Given the description of an element on the screen output the (x, y) to click on. 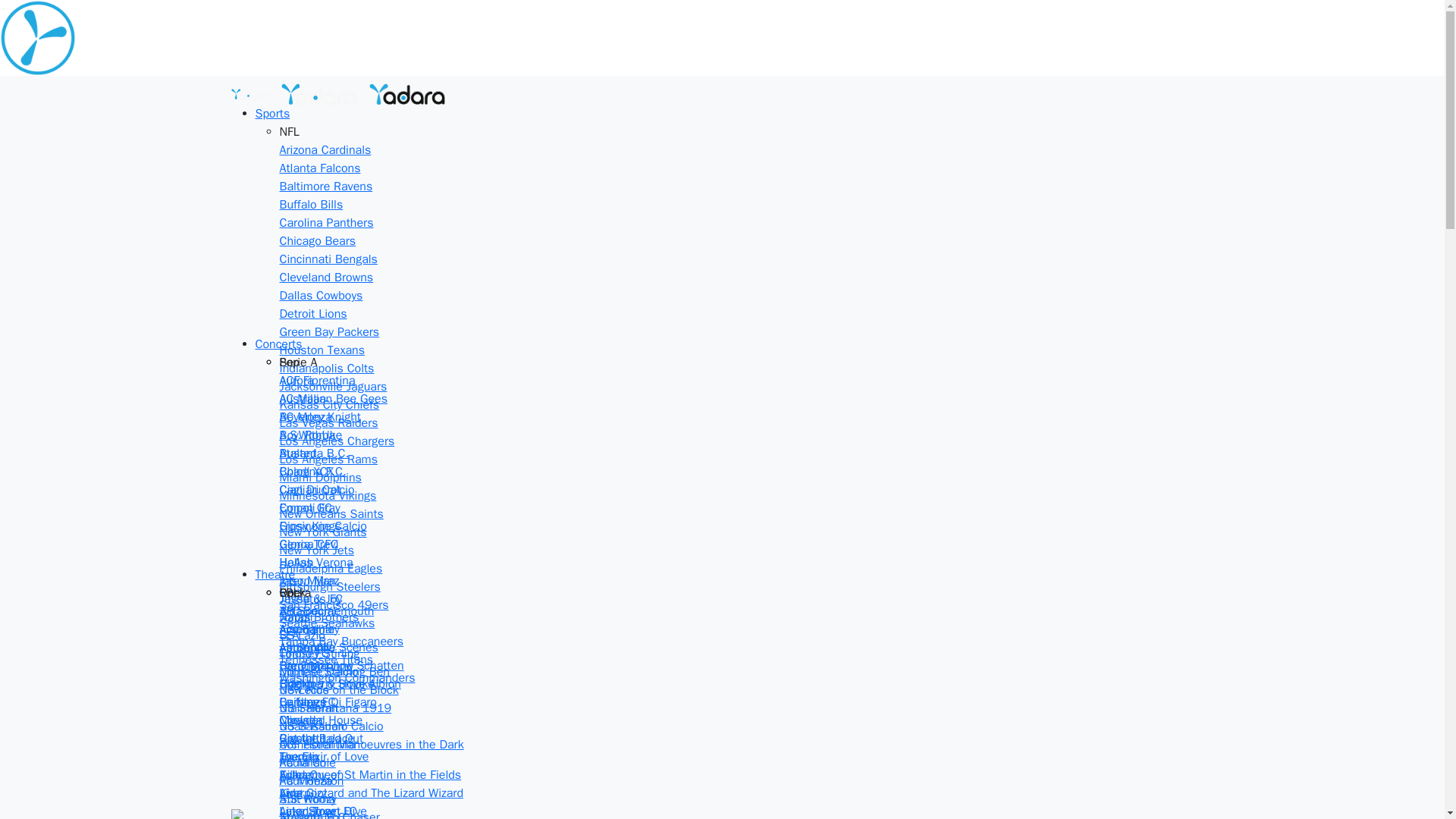
Baltimore Ravens (325, 186)
Sports (271, 113)
Minnesota Vikings (327, 495)
Dallas Cowboys (320, 295)
A.S. Roma (306, 435)
Indianapolis Colts (326, 368)
Kansas City Chiefs (328, 404)
Seattle Seahawks (326, 622)
Tampa Bay Buccaneers (341, 641)
Miami Dolphins (320, 477)
